Given the description of an element on the screen output the (x, y) to click on. 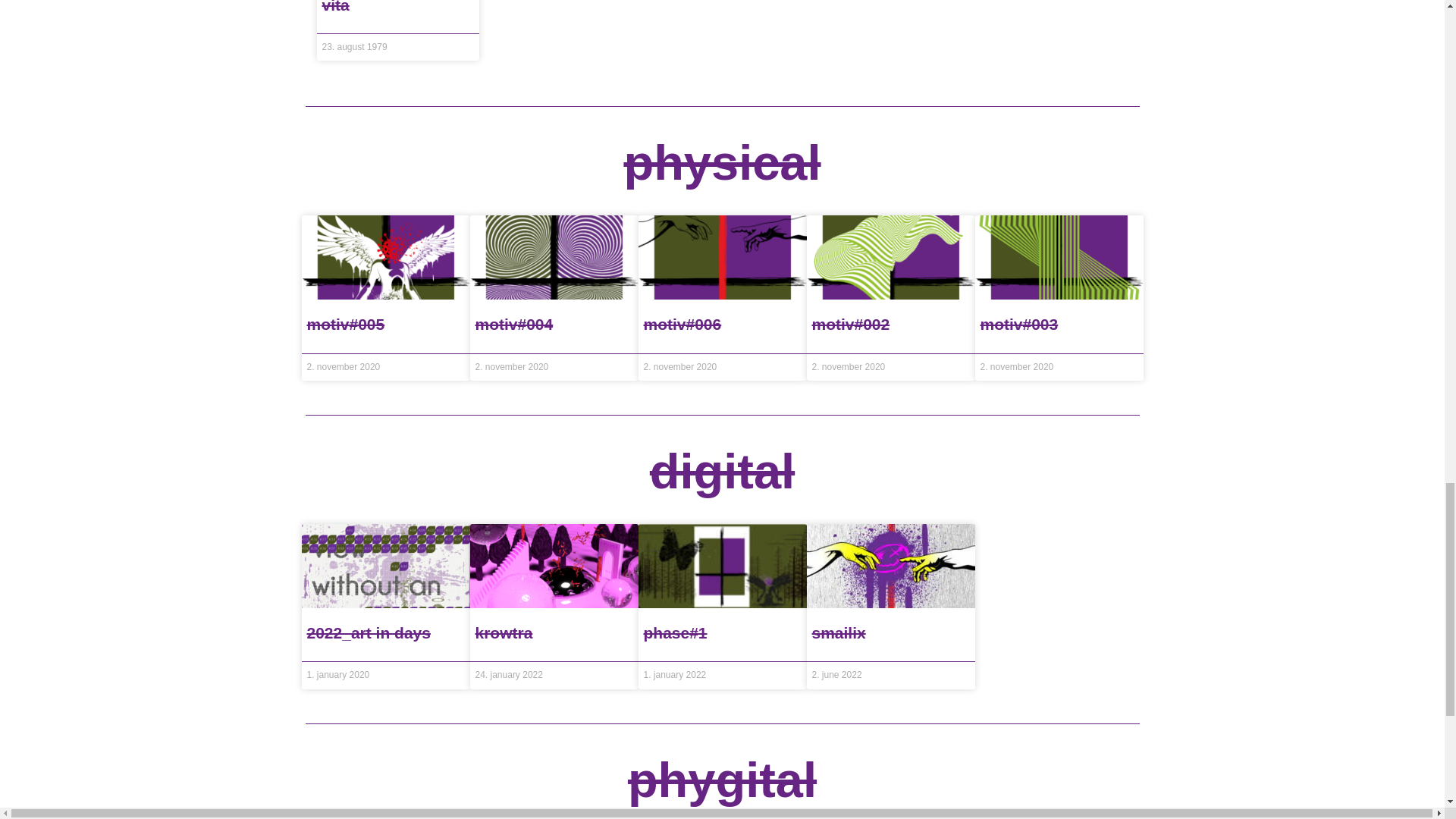
krowtra (503, 632)
smailix (837, 632)
vita (335, 6)
